Given the description of an element on the screen output the (x, y) to click on. 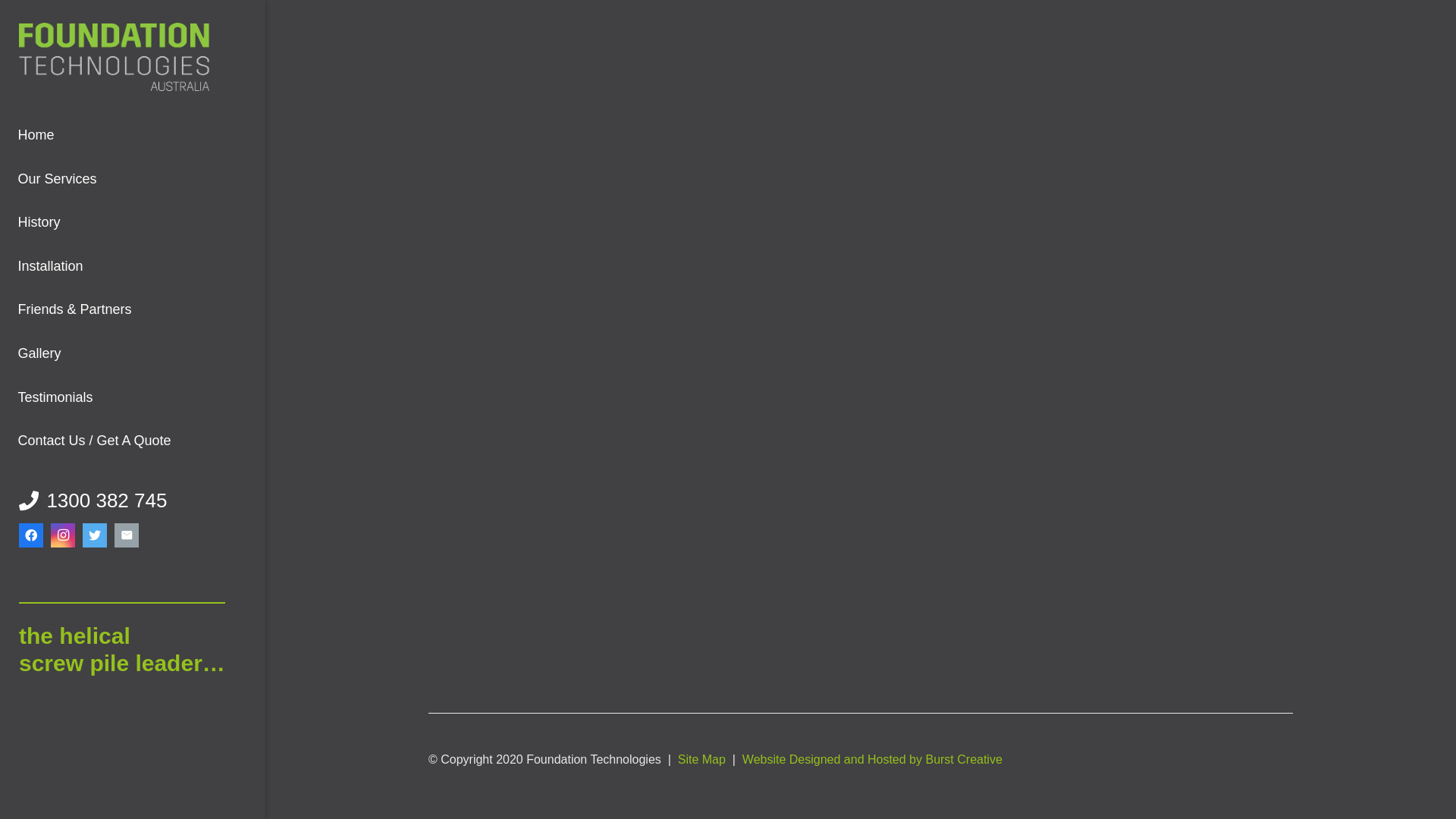
Testimonials Element type: text (132, 398)
Instagram Element type: hover (62, 535)
Email Element type: hover (126, 535)
History Element type: text (132, 222)
Contact Us / Get A Quote Element type: text (132, 441)
Facebook Element type: hover (30, 535)
Installation Element type: text (132, 266)
Home Element type: text (132, 135)
1300 382 745 Element type: text (92, 500)
Twitter Element type: hover (94, 535)
Friends & Partners Element type: text (132, 310)
Website Designed and Hosted by Burst Creative Element type: text (872, 759)
Gallery Element type: text (132, 354)
Site Map Element type: text (701, 759)
Our Services Element type: text (132, 179)
